Given the description of an element on the screen output the (x, y) to click on. 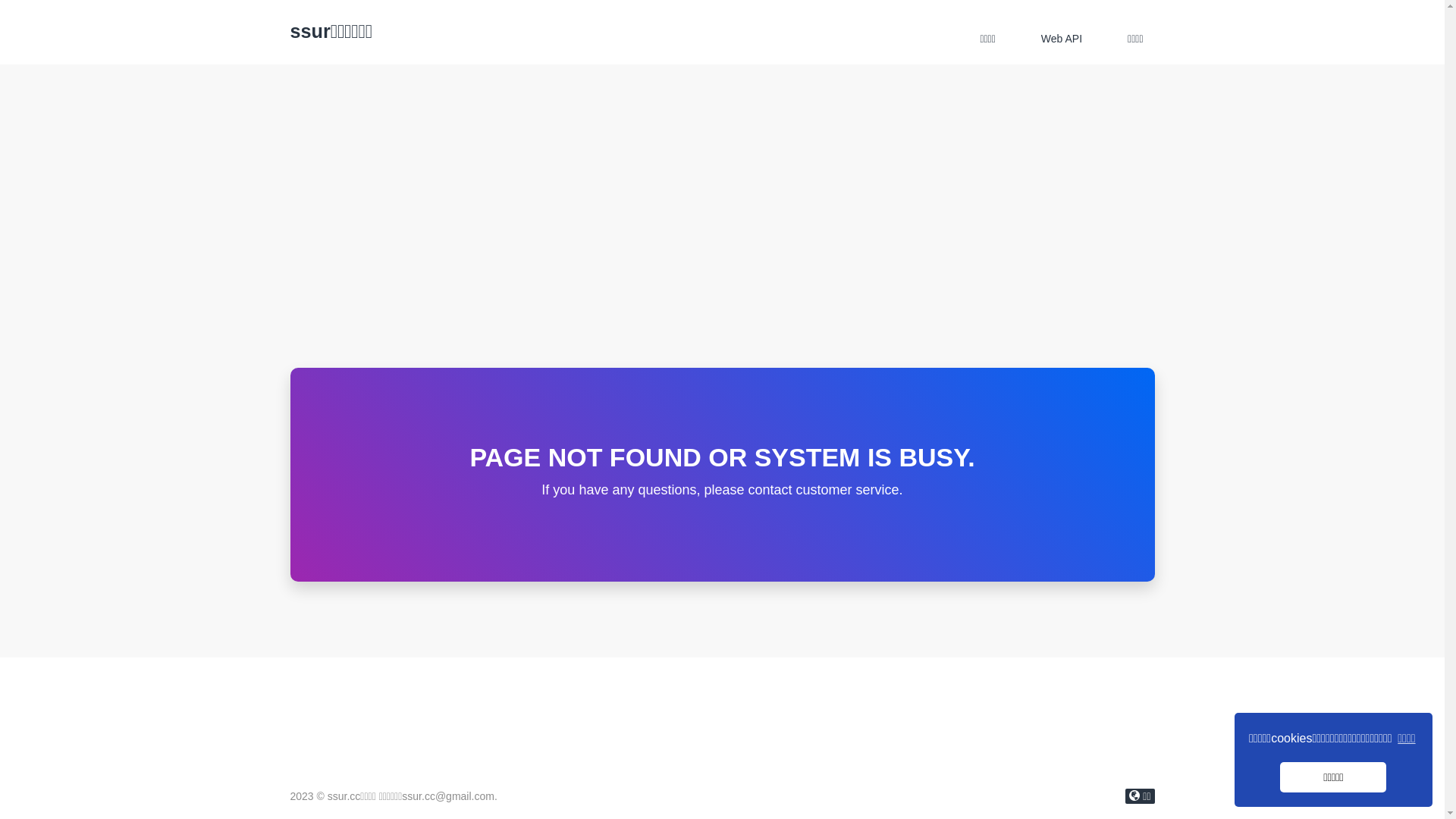
Web API Element type: text (1061, 38)
Advertisement Element type: hover (721, 253)
